Given the description of an element on the screen output the (x, y) to click on. 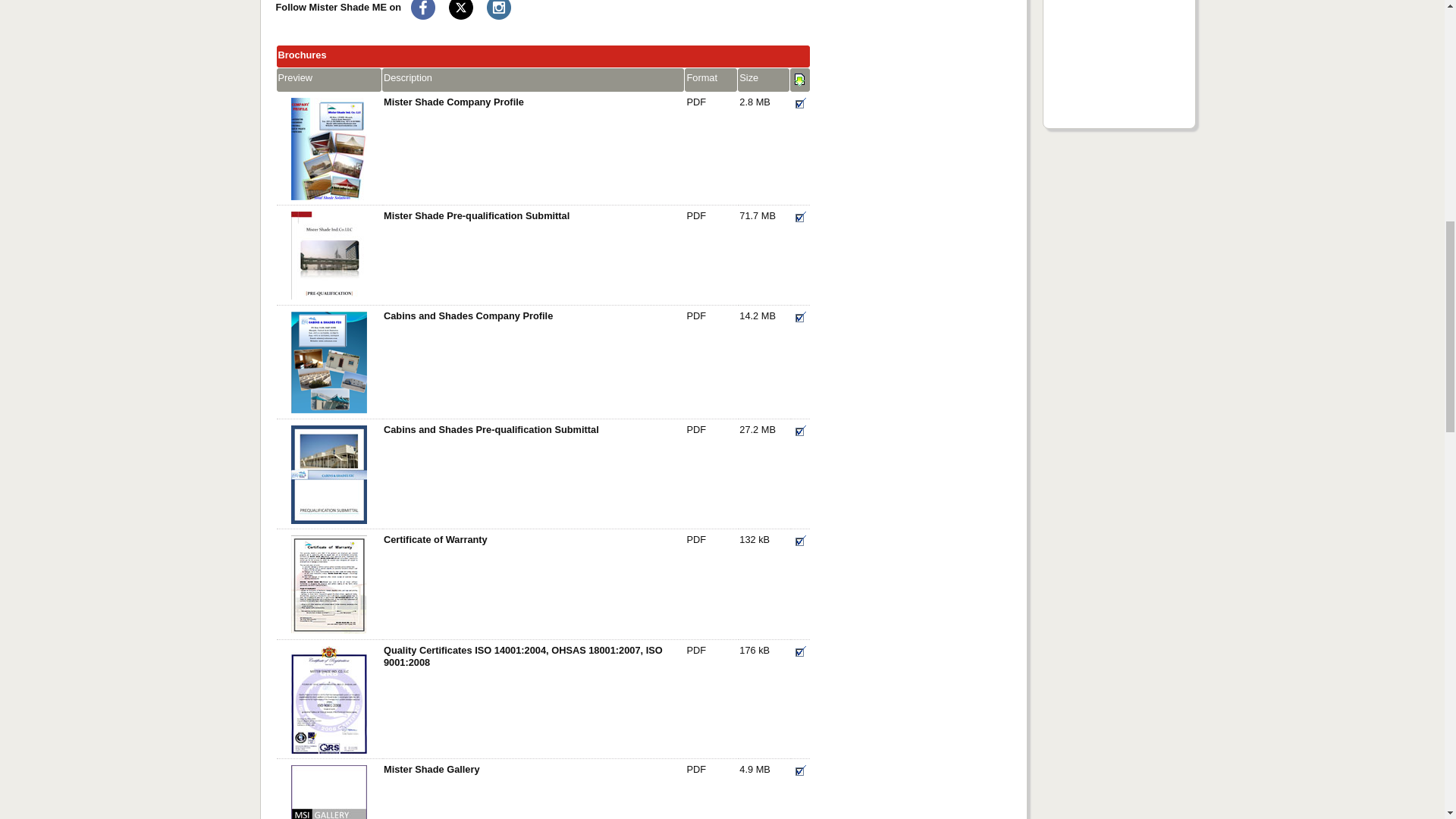
Open (799, 79)
X (460, 9)
Facebook (422, 9)
Open (799, 103)
Open (799, 217)
Open (799, 318)
Instagram (498, 9)
